Given the description of an element on the screen output the (x, y) to click on. 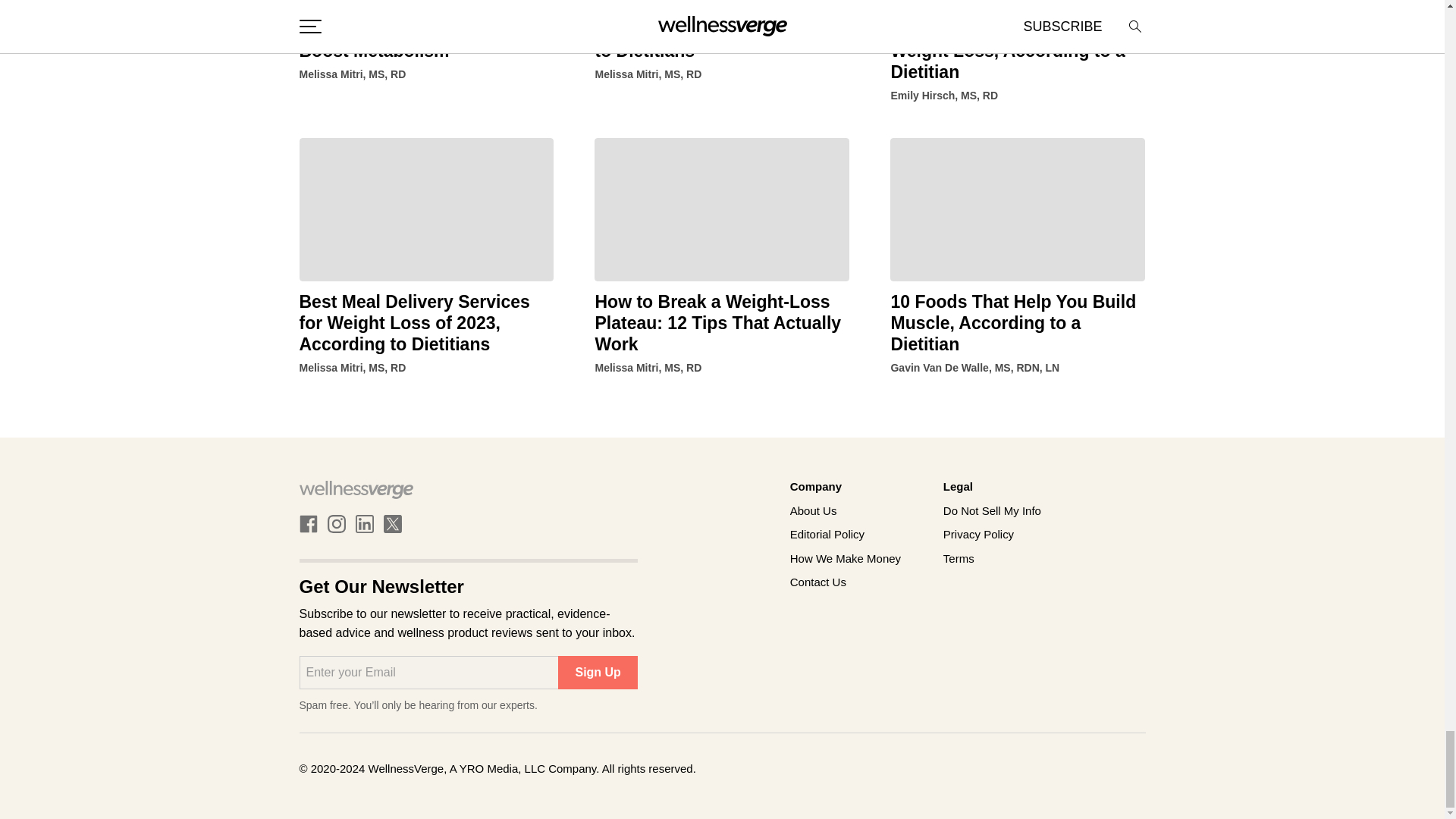
Best Diets of 2023, According to Dietitians (721, 4)
11 Evidence-Based Ways to Boost Metabolism (425, 4)
